Given the description of an element on the screen output the (x, y) to click on. 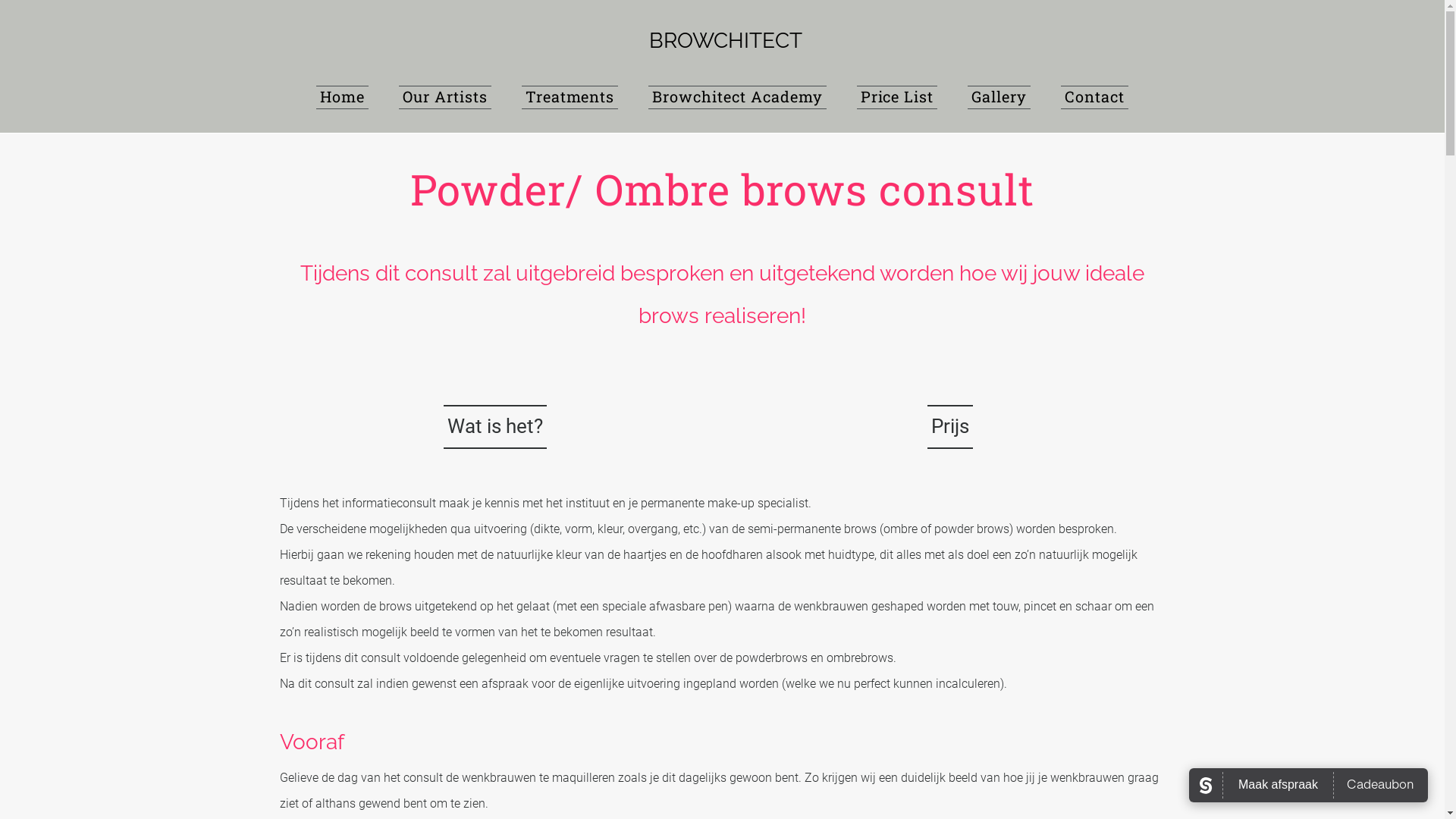
Home Element type: text (342, 96)
Wat is het? Element type: text (494, 425)
Browchitect Academy Element type: text (736, 96)
Price List Element type: text (897, 96)
Contact Element type: text (1094, 96)
Gallery Element type: text (998, 96)
Prijs Element type: text (949, 425)
Our Artists Element type: text (444, 96)
Treatments Element type: text (569, 96)
